Given the description of an element on the screen output the (x, y) to click on. 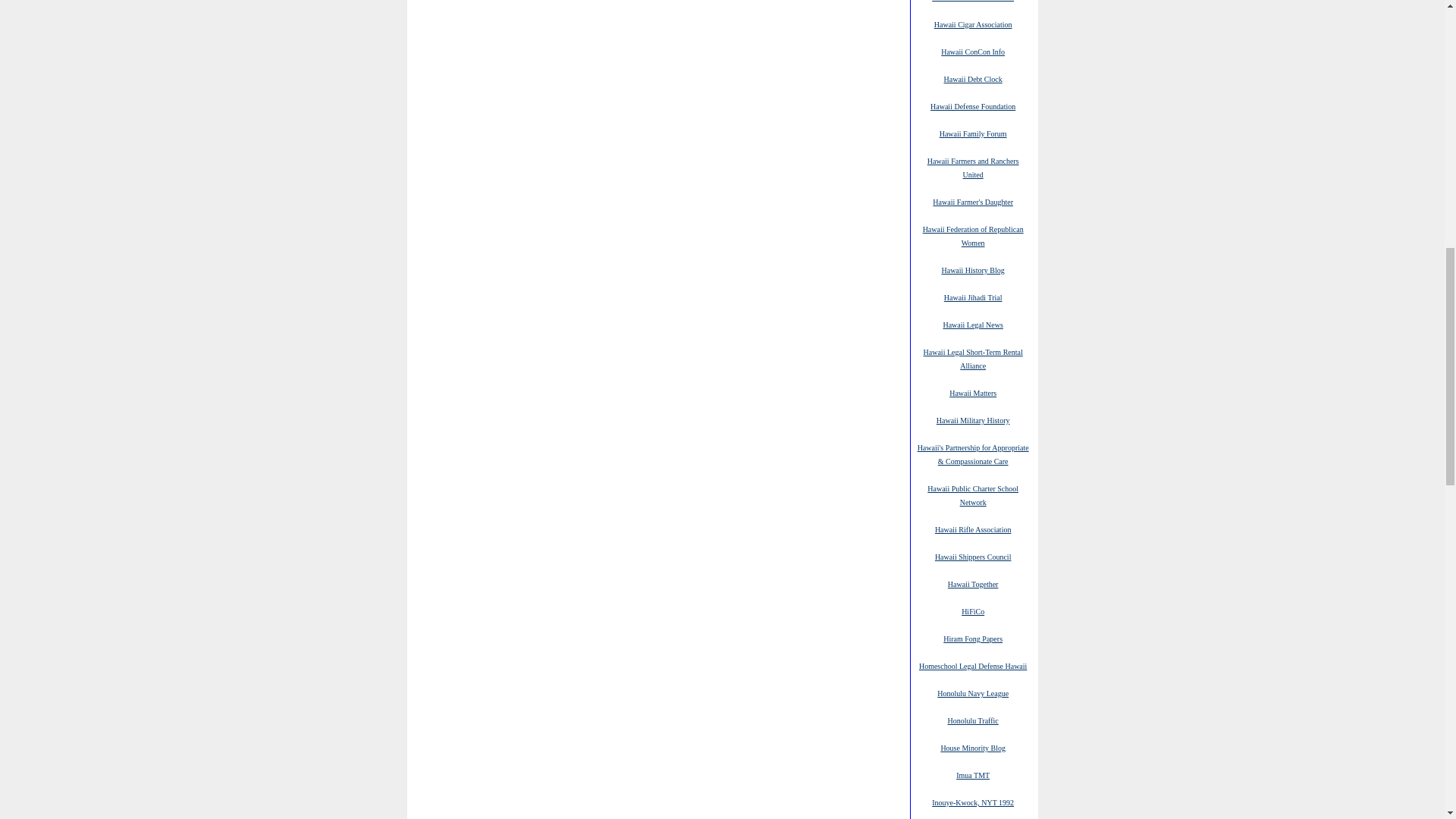
Hawaii Farmer's Daughter (973, 201)
Hawaii Christian Coalition (972, 1)
Hawaii ConCon Info (972, 50)
Hawaii Defense Foundation (972, 105)
Hawaii Family Forum (973, 132)
Hawaii History Blog (972, 269)
Hawaii Jihadi Trial (973, 296)
Hawaii Farmers and Ranchers United (973, 167)
Hawaii Federation of Republican Women (973, 235)
Hawaii Cigar Association (972, 23)
